Given the description of an element on the screen output the (x, y) to click on. 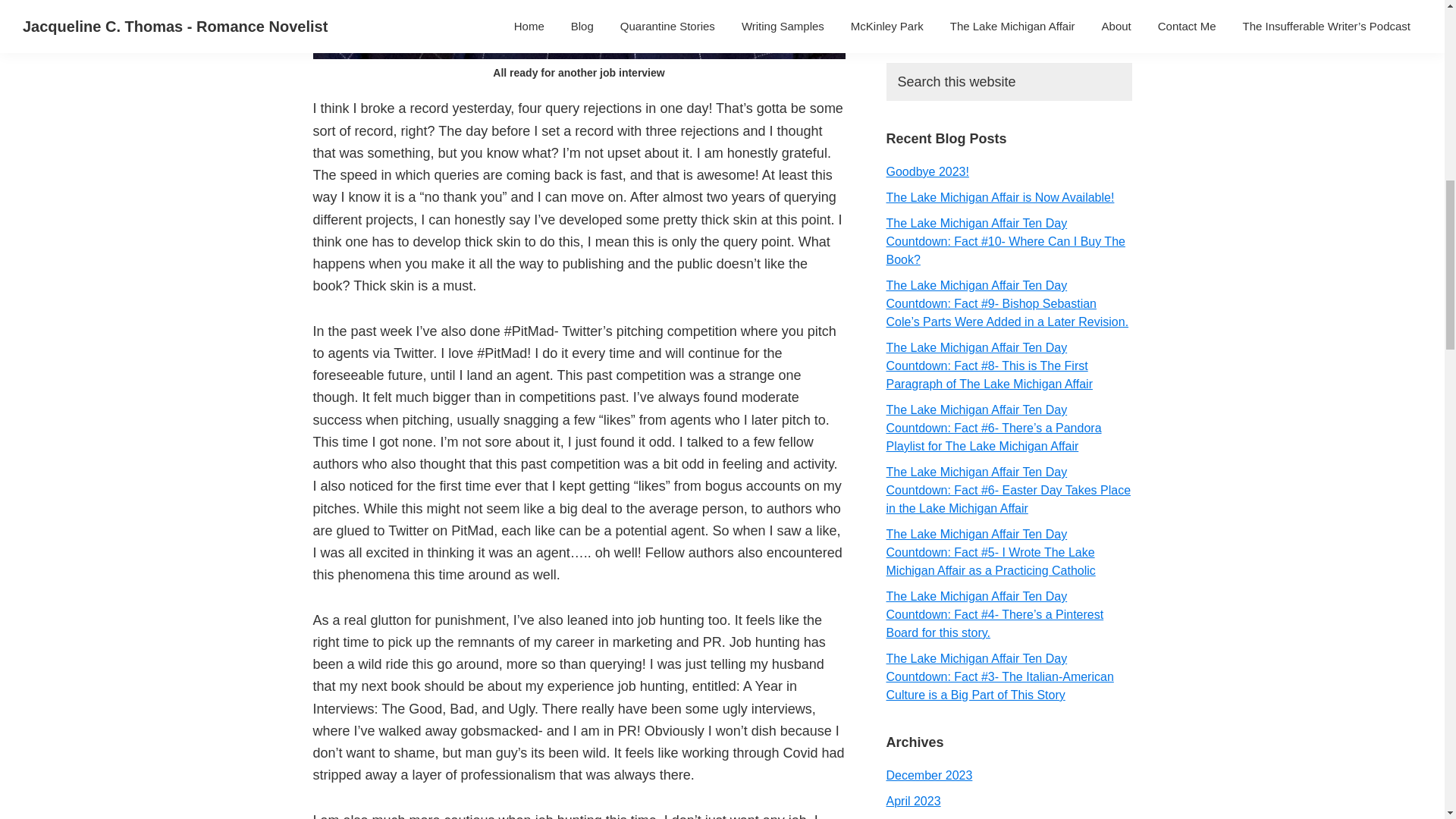
The Lake Michigan Affair is Now Available! (999, 196)
Sign up (930, 15)
Sign up (930, 15)
Goodbye 2023! (926, 171)
